Given the description of an element on the screen output the (x, y) to click on. 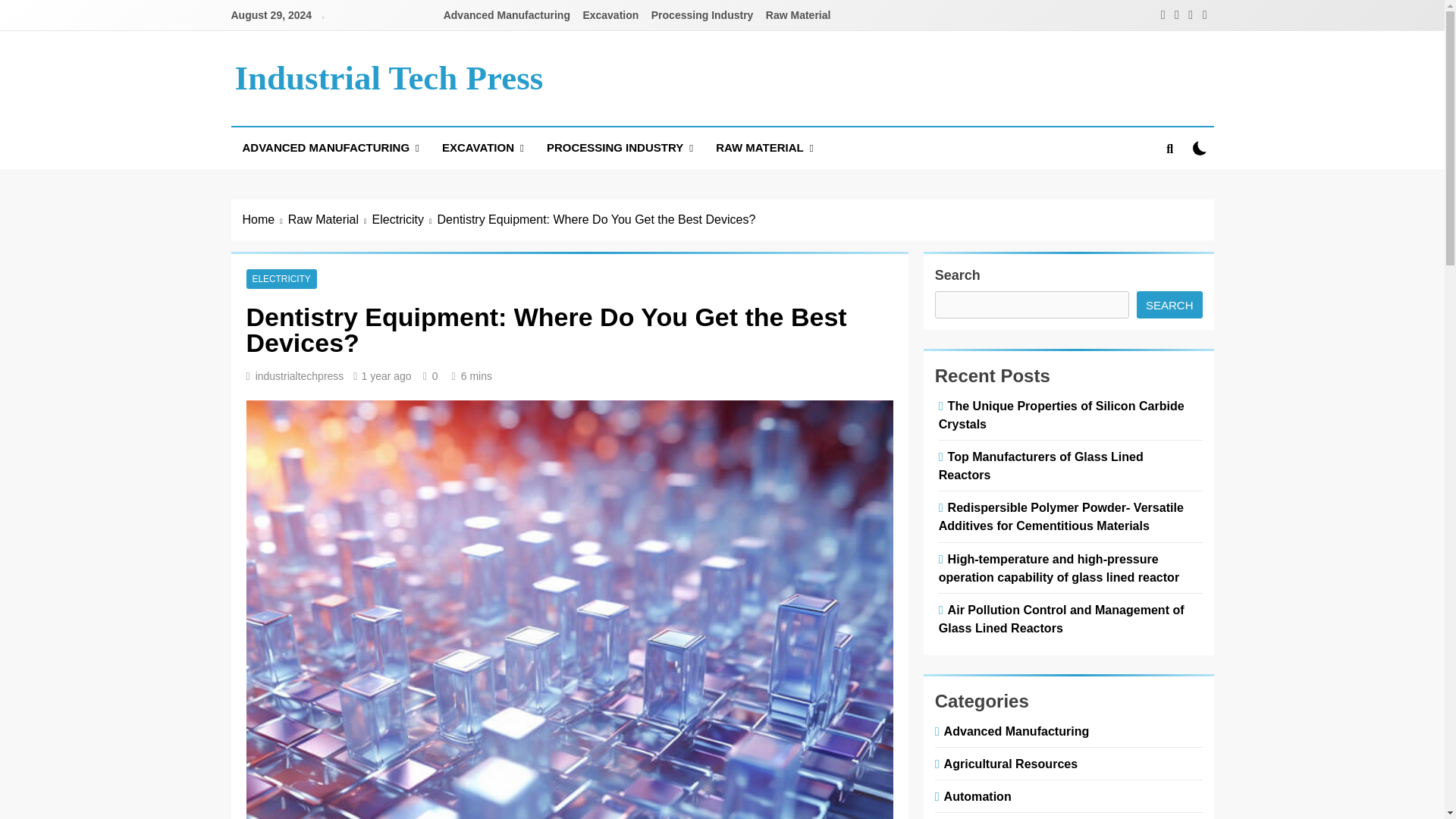
Advanced Manufacturing (507, 15)
Excavation (610, 15)
Processing Industry (702, 15)
Home (265, 219)
EXCAVATION (482, 147)
PROCESSING INDUSTRY (619, 147)
Raw Material (798, 15)
ADVANCED MANUFACTURING (329, 147)
RAW MATERIAL (764, 147)
Raw Material (330, 219)
